Given the description of an element on the screen output the (x, y) to click on. 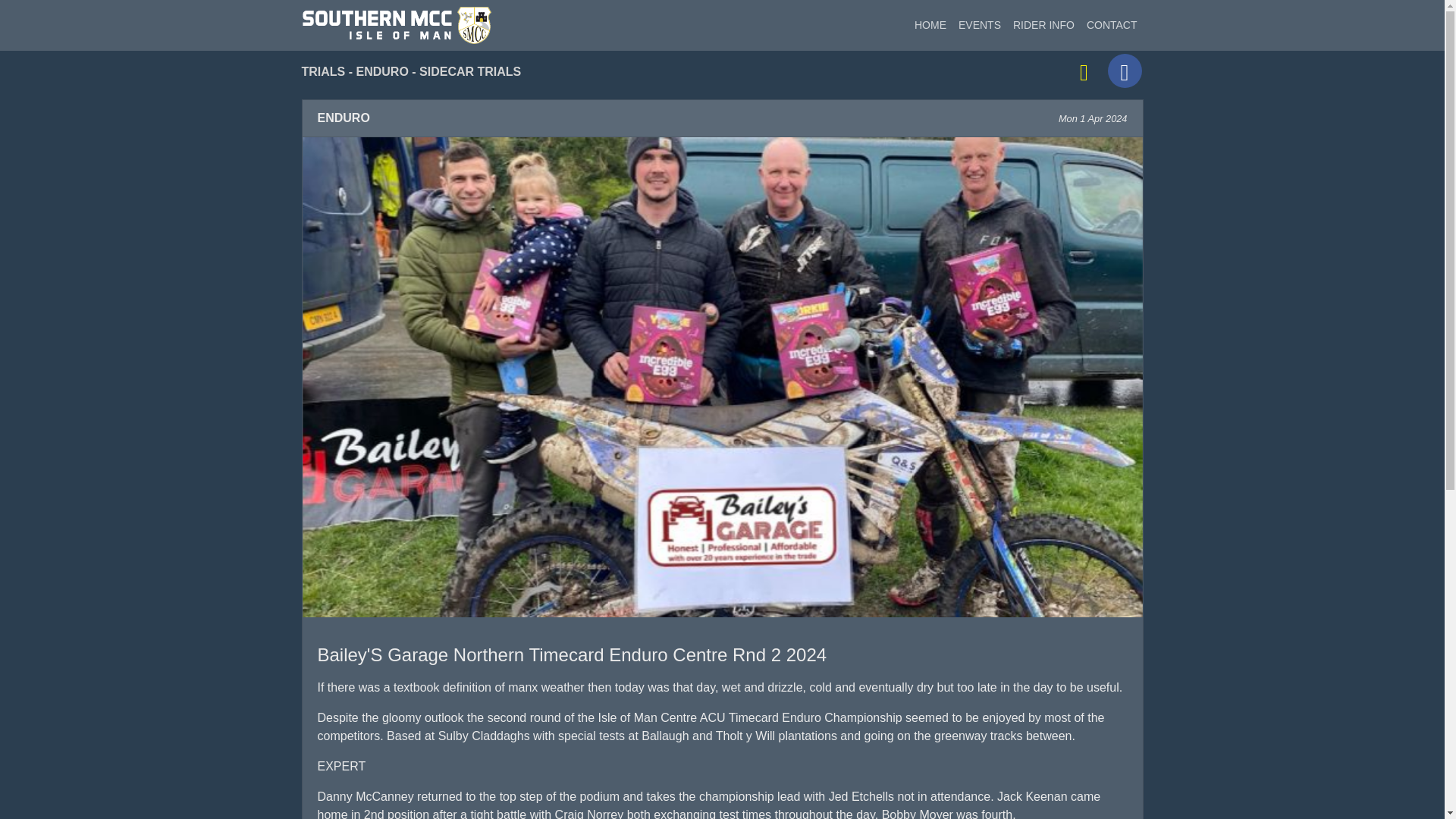
HOME (930, 25)
EVENTS (979, 25)
RIDER INFO (1043, 25)
CONTACT (1111, 25)
